Given the description of an element on the screen output the (x, y) to click on. 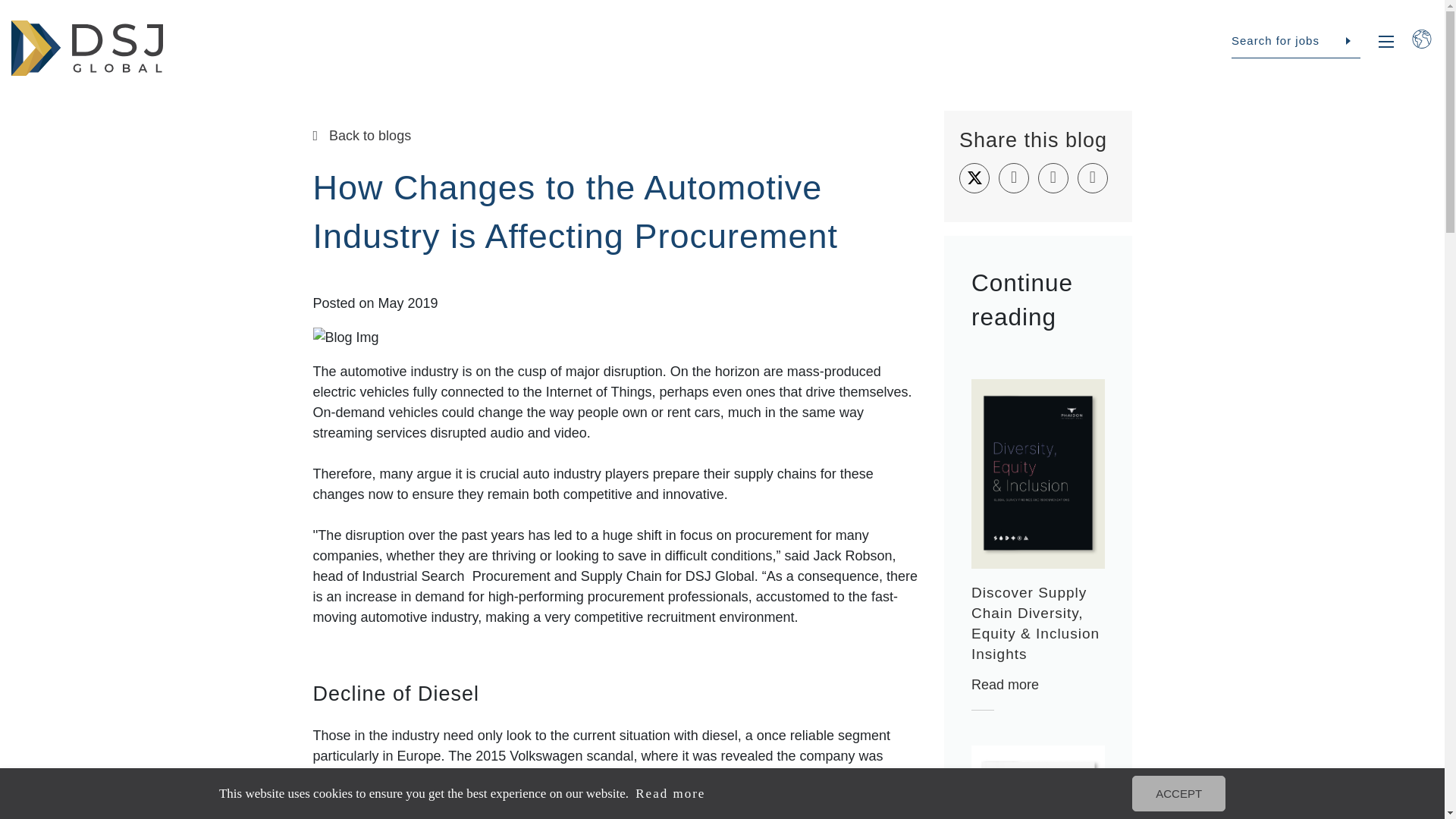
Go to the Homepage (87, 47)
Back to blogs (615, 136)
Read more (683, 793)
Search for jobs (1295, 41)
ACCEPT (1192, 793)
Email (1092, 177)
share on LinkedIn (1053, 177)
DSJ Global DE (87, 47)
share on Facebook (1013, 177)
Tweet this (974, 177)
